Given the description of an element on the screen output the (x, y) to click on. 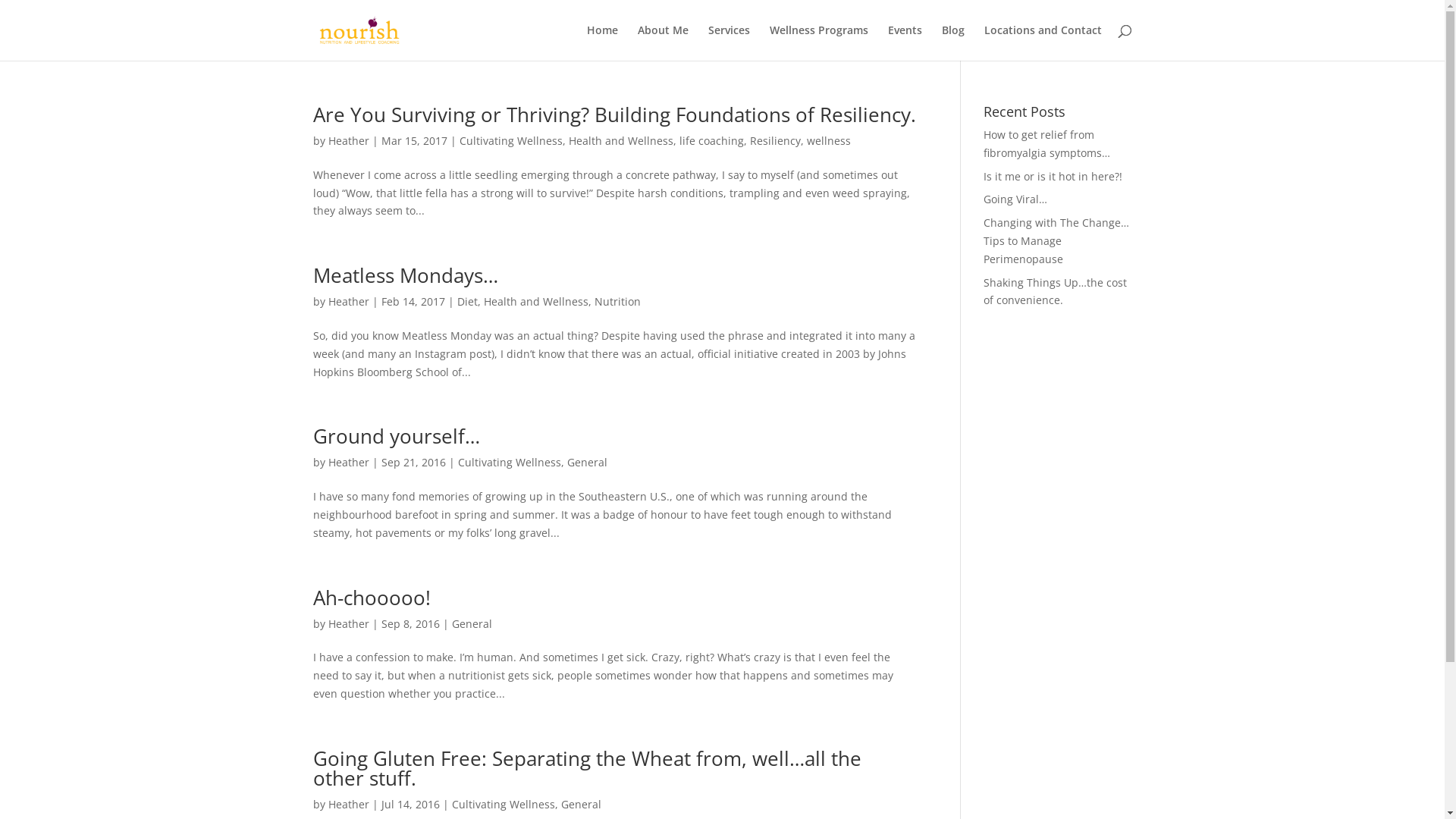
Locations and Contact Element type: text (1042, 42)
Diet Element type: text (466, 301)
Services Element type: text (728, 42)
wellness Element type: text (828, 140)
About Me Element type: text (662, 42)
Heather Element type: text (347, 140)
Is it me or is it hot in here?! Element type: text (1052, 176)
Cultivating Wellness Element type: text (509, 462)
Resiliency Element type: text (774, 140)
Wellness Programs Element type: text (817, 42)
Heather Element type: text (347, 301)
General Element type: text (587, 462)
General Element type: text (471, 623)
Health and Wellness Element type: text (620, 140)
life coaching Element type: text (711, 140)
Heather Element type: text (347, 623)
Blog Element type: text (952, 42)
Cultivating Wellness Element type: text (510, 140)
Events Element type: text (904, 42)
General Element type: text (581, 804)
Cultivating Wellness Element type: text (503, 804)
Nutrition Element type: text (617, 301)
Heather Element type: text (347, 804)
Ah-chooooo! Element type: text (370, 597)
Health and Wellness Element type: text (535, 301)
Home Element type: text (602, 42)
Heather Element type: text (347, 462)
